Given the description of an element on the screen output the (x, y) to click on. 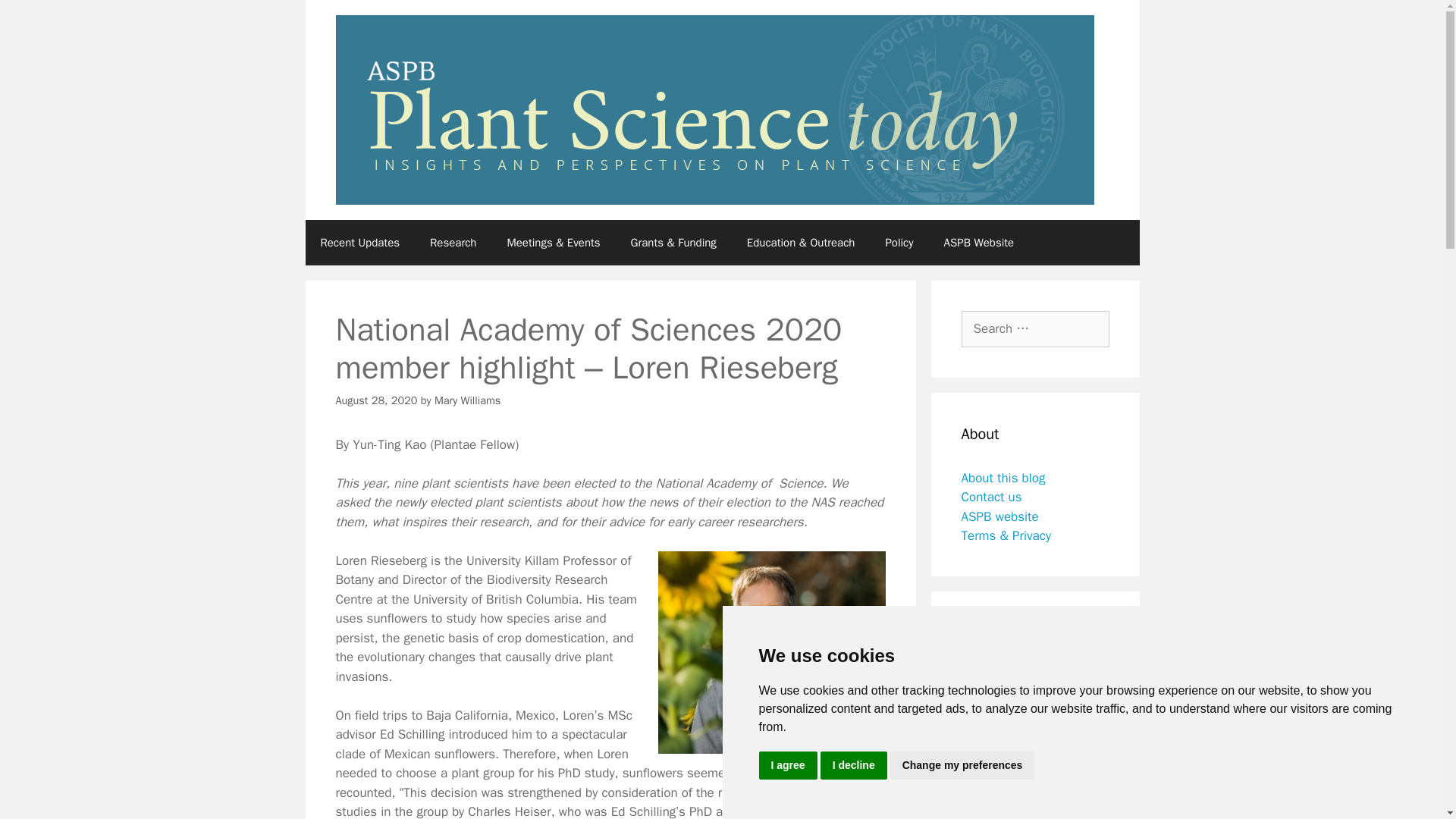
Contact us (991, 496)
ASPB website (999, 515)
Change my preferences (962, 765)
About this blog (1002, 478)
ASPB Website (978, 242)
Policy (898, 242)
I decline (853, 765)
Recent Updates (359, 242)
Research (453, 242)
View all posts by Mary Williams (466, 400)
Search for: (1034, 329)
Mary Williams (466, 400)
I agree (787, 765)
